Given the description of an element on the screen output the (x, y) to click on. 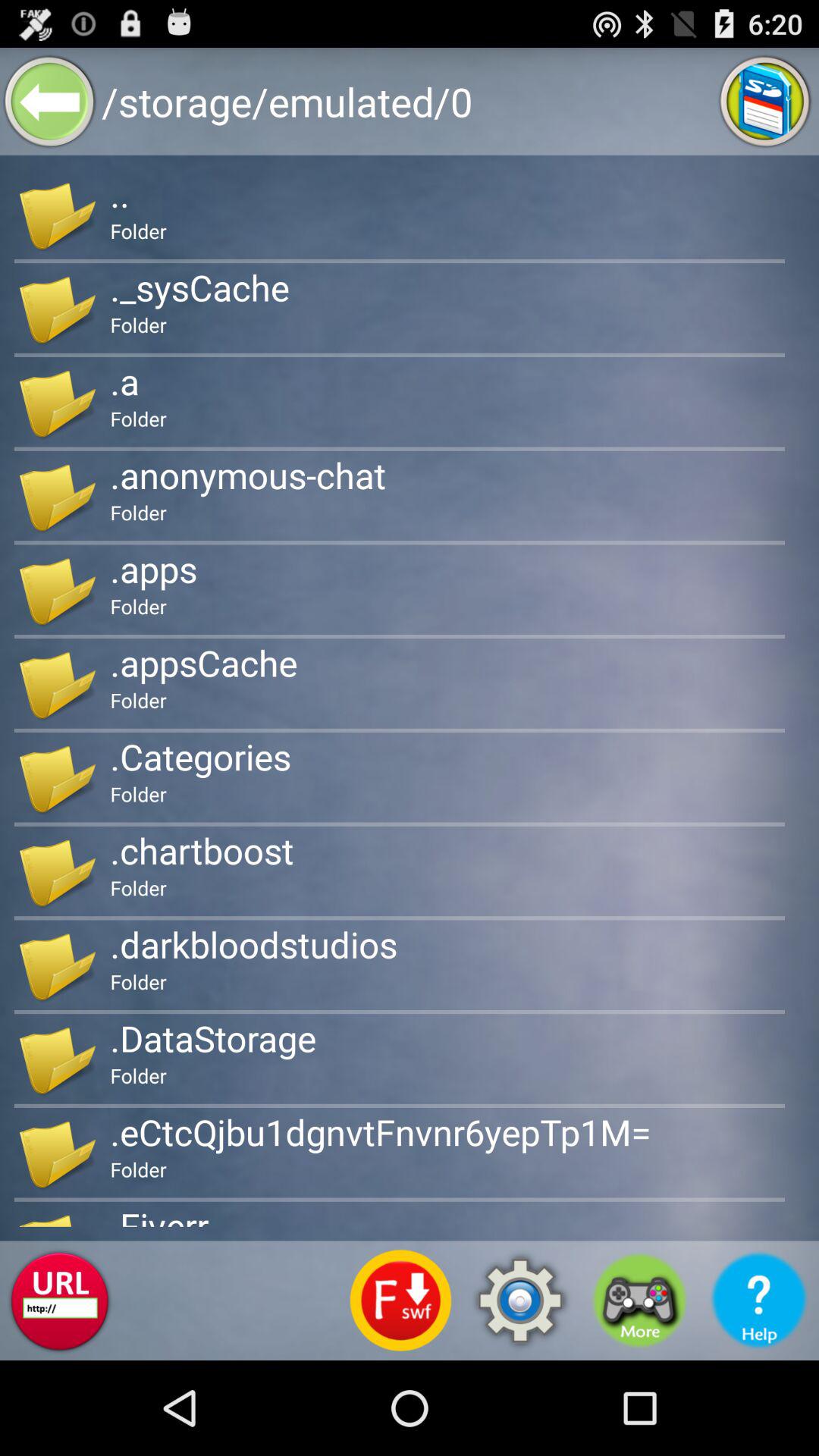
help (759, 1300)
